Given the description of an element on the screen output the (x, y) to click on. 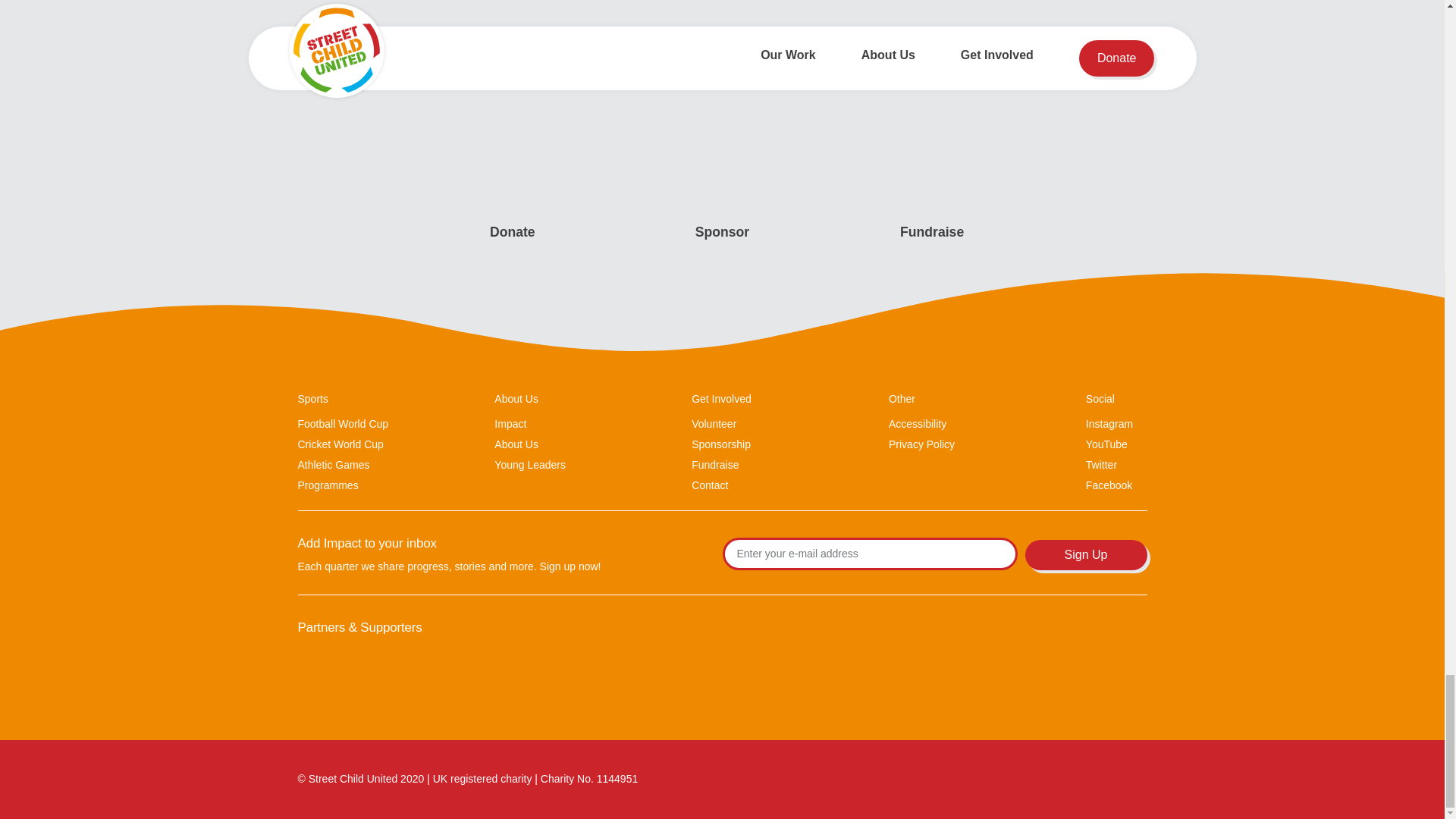
Donate (512, 231)
